Given the description of an element on the screen output the (x, y) to click on. 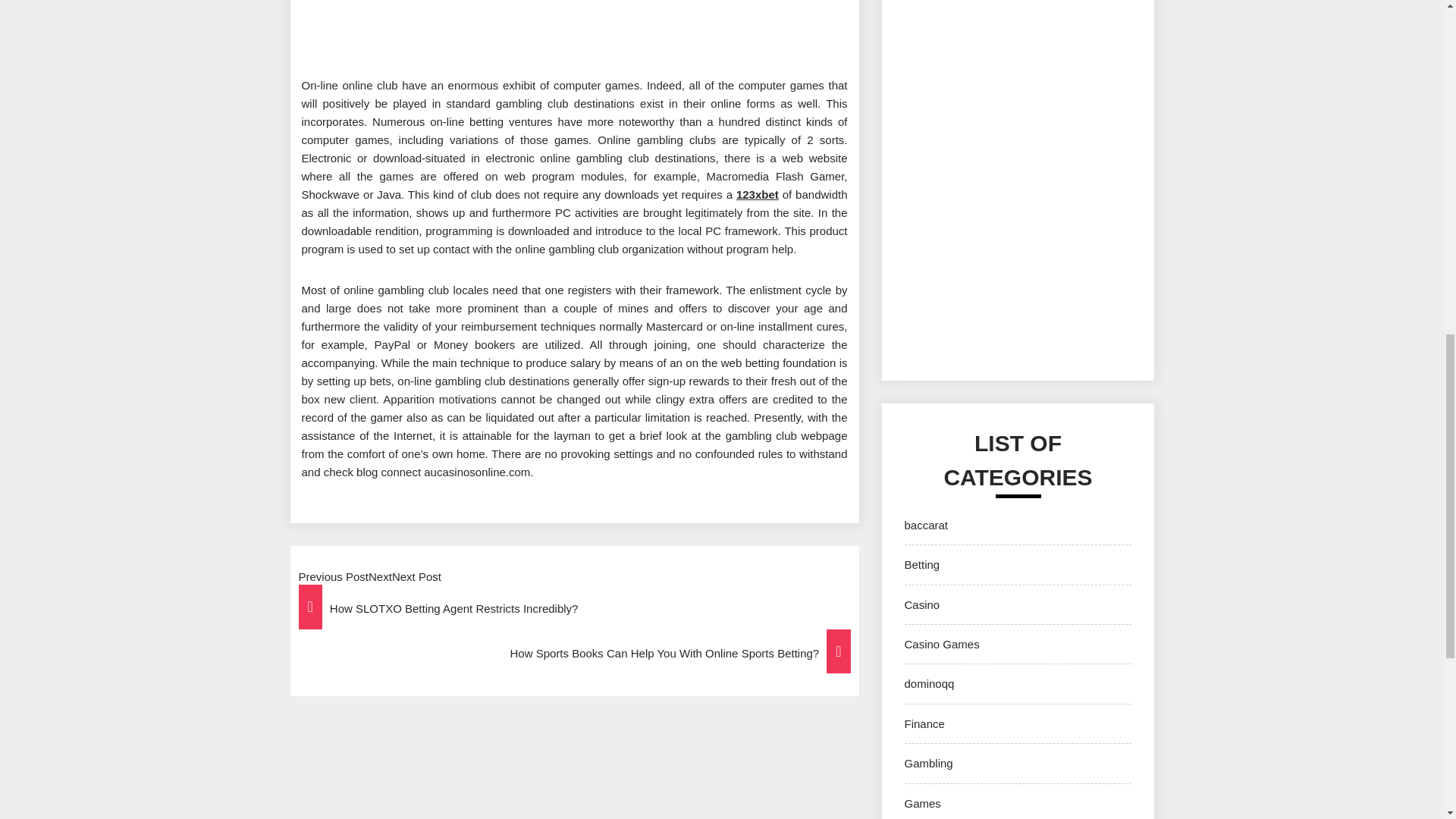
Casino (921, 604)
123xbet (757, 194)
Betting (921, 563)
Games (922, 802)
Gambling (928, 762)
Finance (923, 723)
baccarat (925, 524)
dominoqq (928, 683)
Casino Games (941, 644)
